Given the description of an element on the screen output the (x, y) to click on. 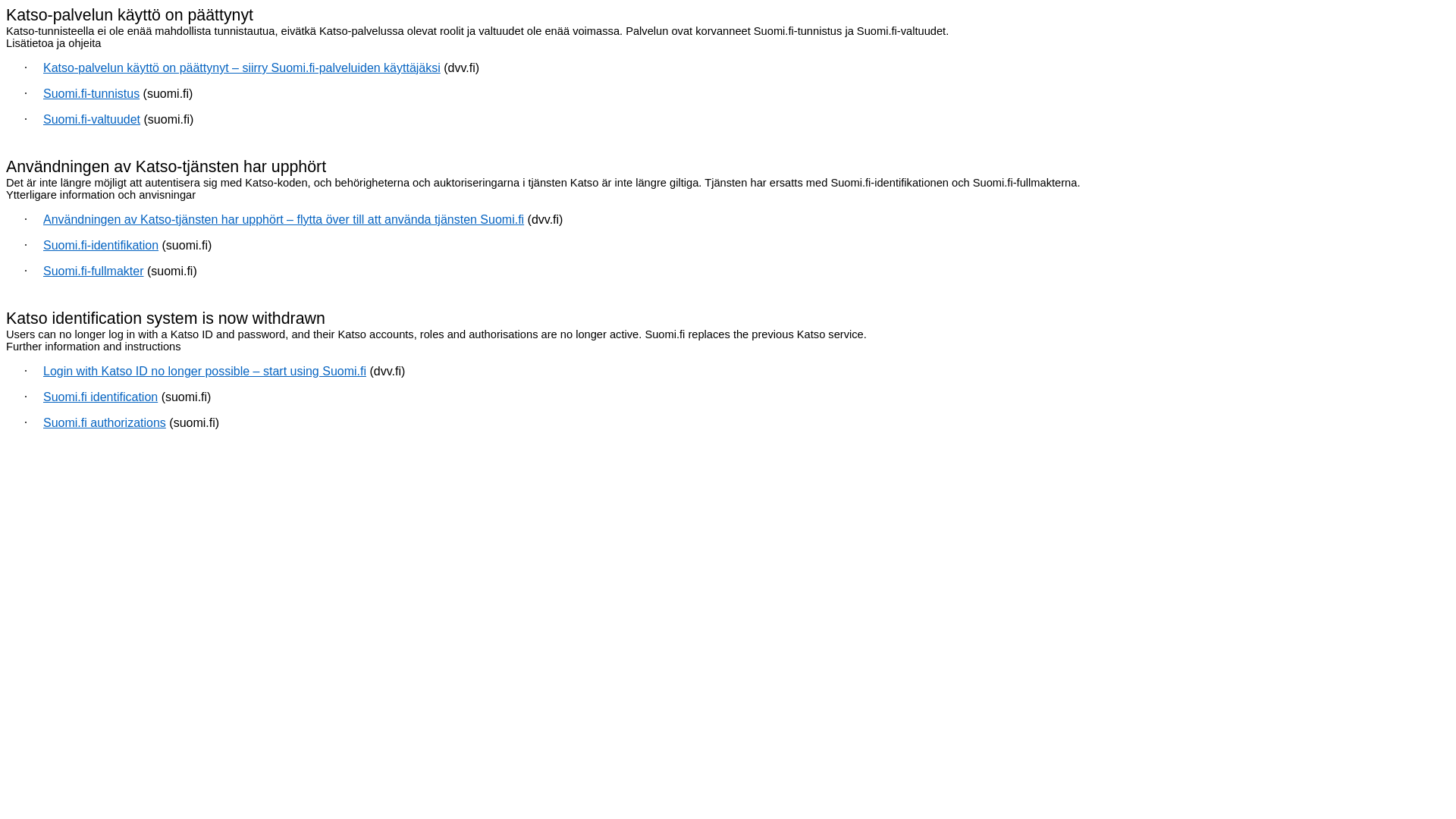
Suomi.fi-fullmakter Element type: text (93, 270)
Suomi.fi-tunnistus Element type: text (91, 93)
Suomi.fi identification Element type: text (100, 396)
Suomi.fi-valtuudet Element type: text (91, 118)
Suomi.fi-identifikation Element type: text (100, 244)
Suomi.fi authorizations Element type: text (104, 422)
